Given the description of an element on the screen output the (x, y) to click on. 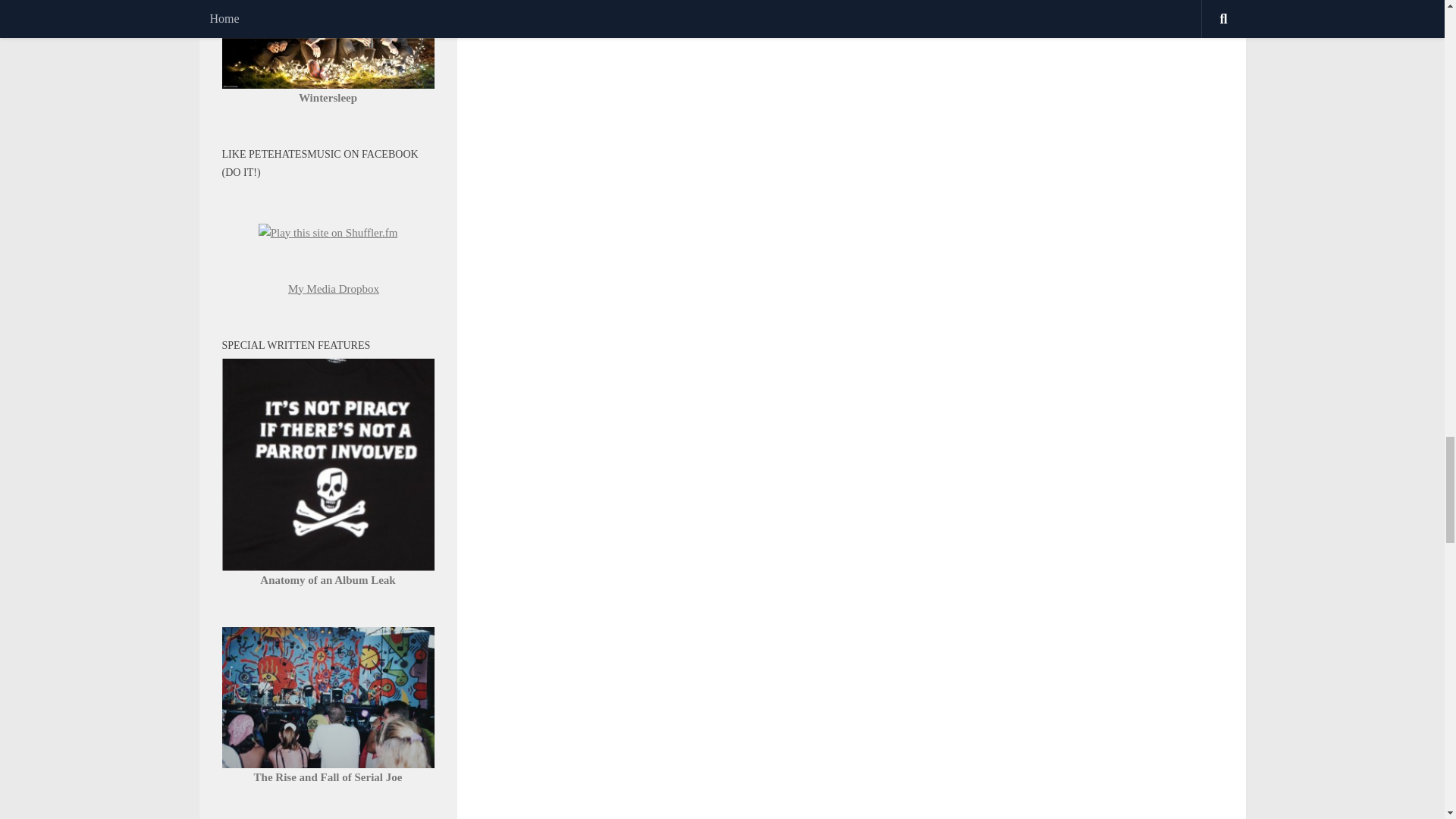
Send Your Media to Peter Richards (333, 288)
